Given the description of an element on the screen output the (x, y) to click on. 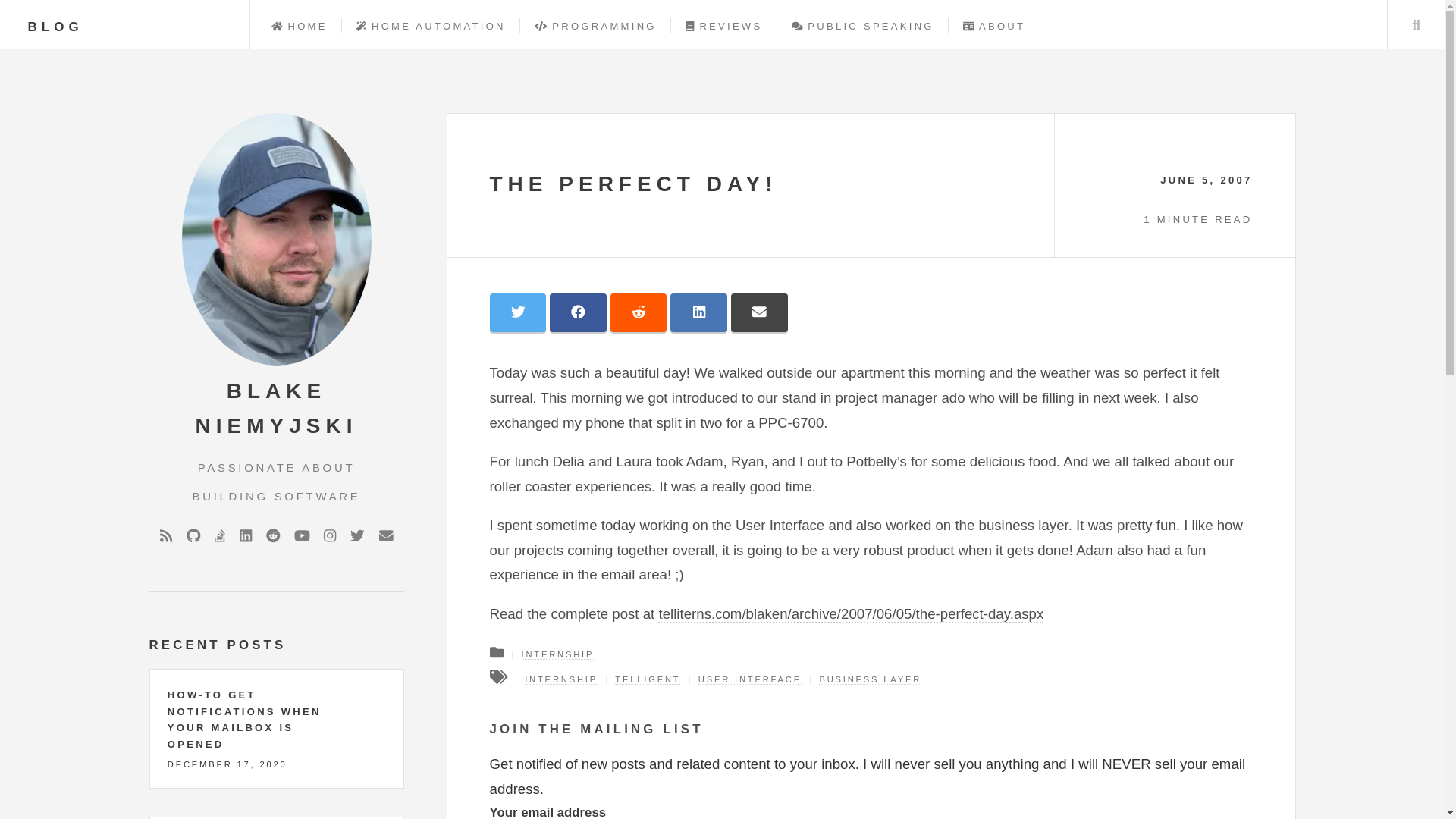
INTERNSHIP (560, 679)
 PROGRAMMING (595, 25)
 HOME (298, 25)
GitHub (193, 536)
YouTube (302, 536)
USER INTERFACE (750, 679)
THE PERFECT DAY! (633, 183)
INTERNSHIP (557, 655)
BUSINESS LAYER (869, 679)
 PUBLIC SPEAKING (863, 25)
Email (385, 536)
 HOME AUTOMATION (430, 25)
TELLIGENT (646, 679)
Twitter (357, 536)
 REVIEWS (723, 25)
